Given the description of an element on the screen output the (x, y) to click on. 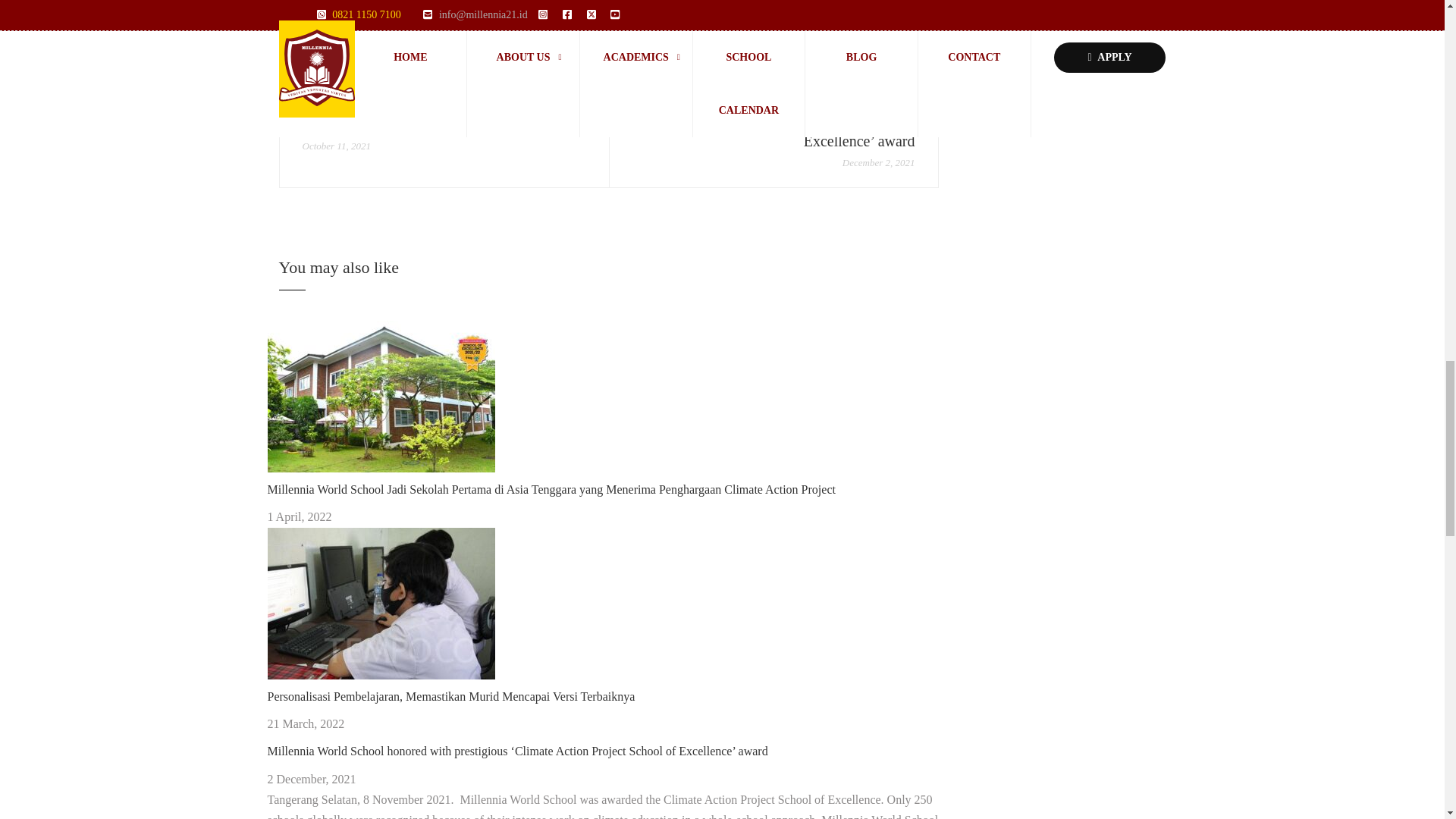
61b048a905ba4 (380, 396)
